Given the description of an element on the screen output the (x, y) to click on. 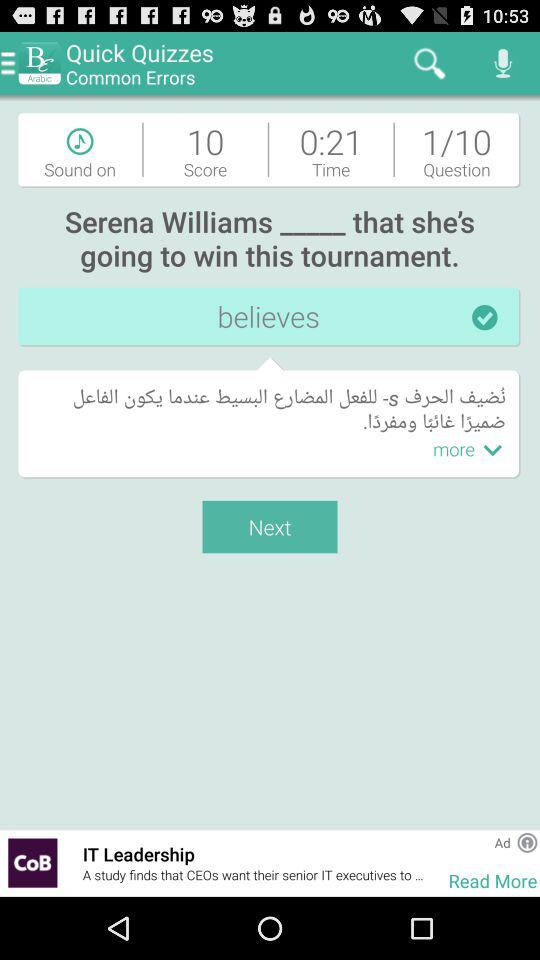
click the believes (269, 317)
